Given the description of an element on the screen output the (x, y) to click on. 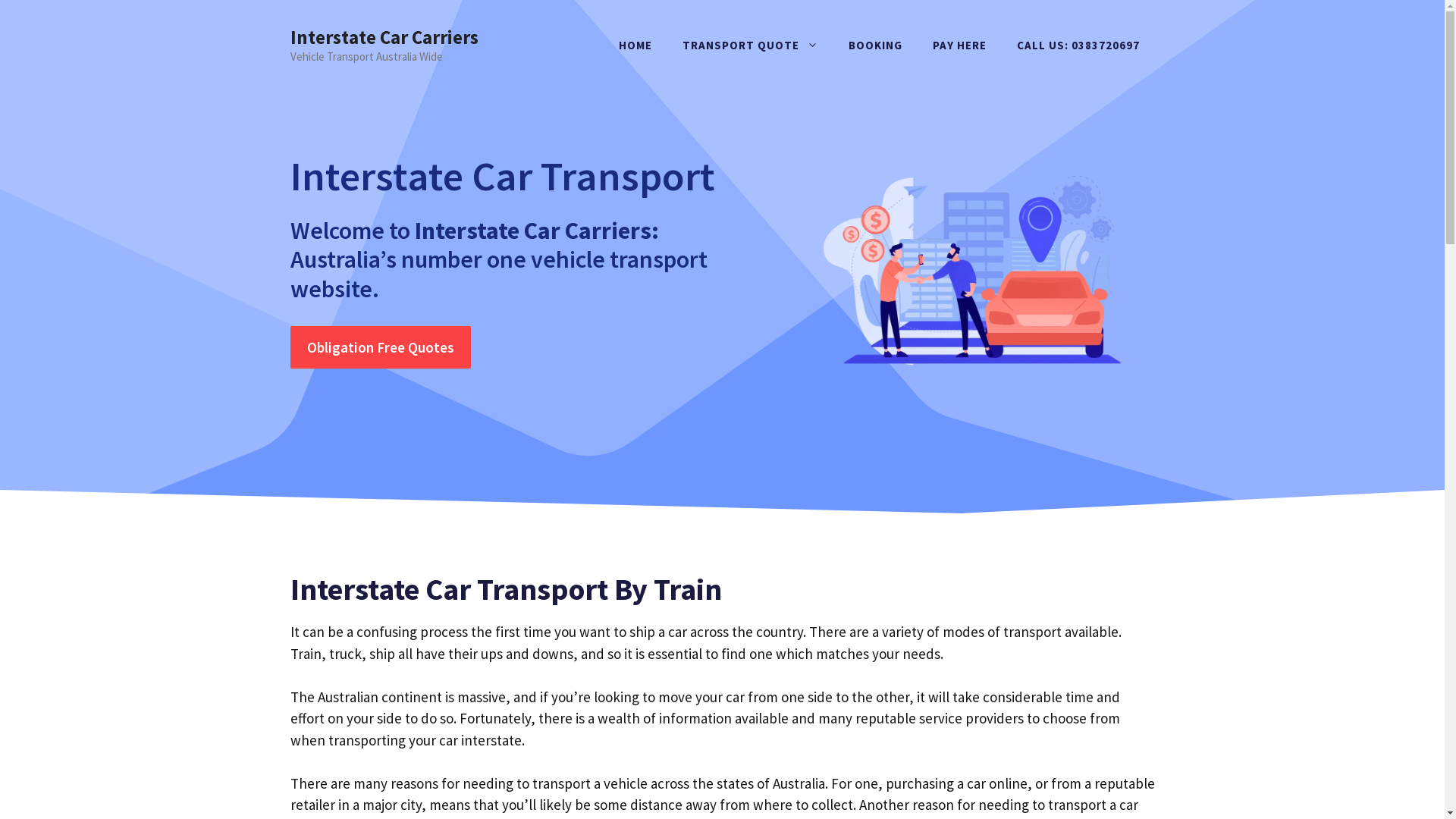
Obligation Free Quotes Element type: text (379, 347)
HOME Element type: text (635, 45)
Interstate Car Carriers Element type: text (383, 37)
BOOKING Element type: text (874, 45)
CALL US: 0383720697 Element type: text (1077, 45)
PAY HERE Element type: text (959, 45)
TRANSPORT QUOTE Element type: text (750, 45)
